Given the description of an element on the screen output the (x, y) to click on. 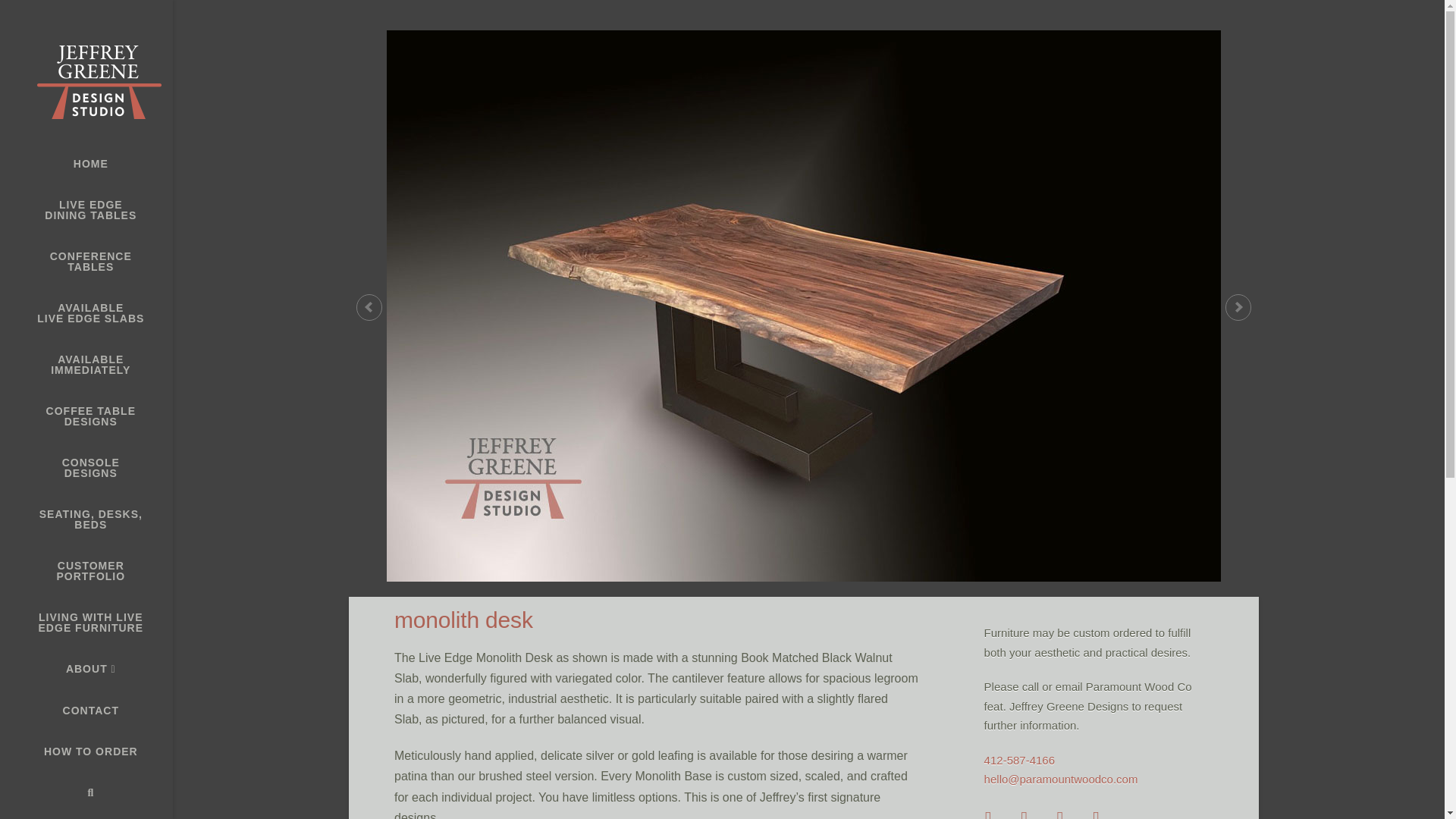
LIVING WITH LIVE EDGE FURNITURE (86, 622)
ABOUT (86, 669)
AVAILABLE IMMEDIATELY (86, 364)
HOW TO ORDER (86, 751)
CONTACT (86, 209)
CUSTOMER PORTFOLIO (86, 710)
SEATING, DESKS, BEDS (86, 571)
HOME (86, 519)
COFFEE TABLE DESIGNS (86, 163)
Share via Email (86, 416)
CONSOLE DESIGNS (1109, 809)
CONFERENCE TABLES (86, 467)
